Given the description of an element on the screen output the (x, y) to click on. 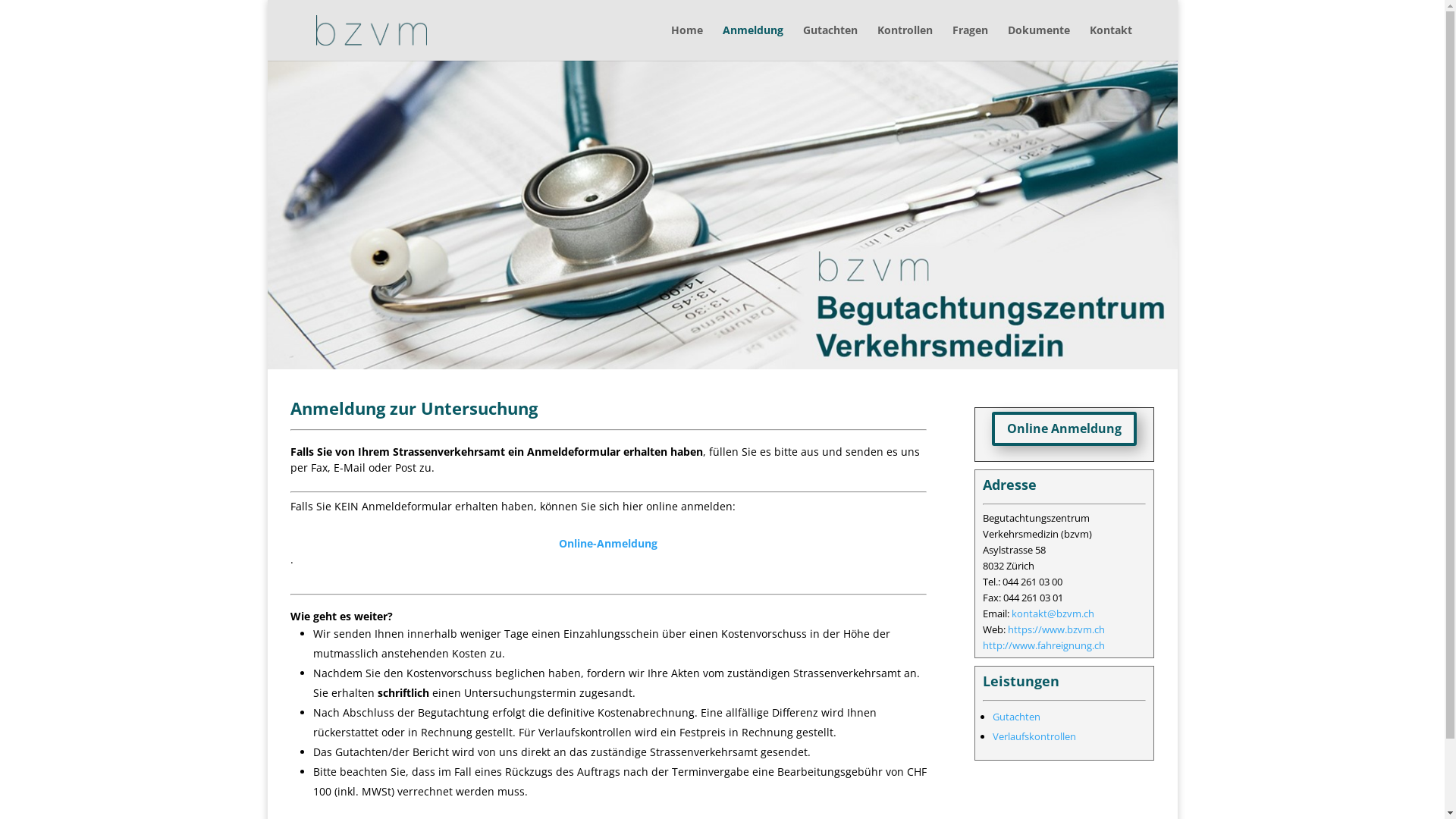
Kontakt Element type: text (1109, 42)
Online Anmeldung Element type: text (1063, 428)
Verlaufskontrollen Element type: text (1033, 736)
Home Element type: text (686, 42)
Gutachten Element type: text (829, 42)
Kontrollen Element type: text (903, 42)
kontakt@bzvm.ch Element type: text (1052, 613)
https://www.bzvm.ch Element type: text (1055, 629)
Gutachten Element type: text (1015, 716)
Adresse Element type: text (1009, 484)
http://www.fahreignung.ch Element type: text (1043, 645)
Dokumente Element type: text (1038, 42)
Online-Anmeldung Element type: text (607, 543)
Fragen Element type: text (970, 42)
Anmeldung Element type: text (751, 42)
